Given the description of an element on the screen output the (x, y) to click on. 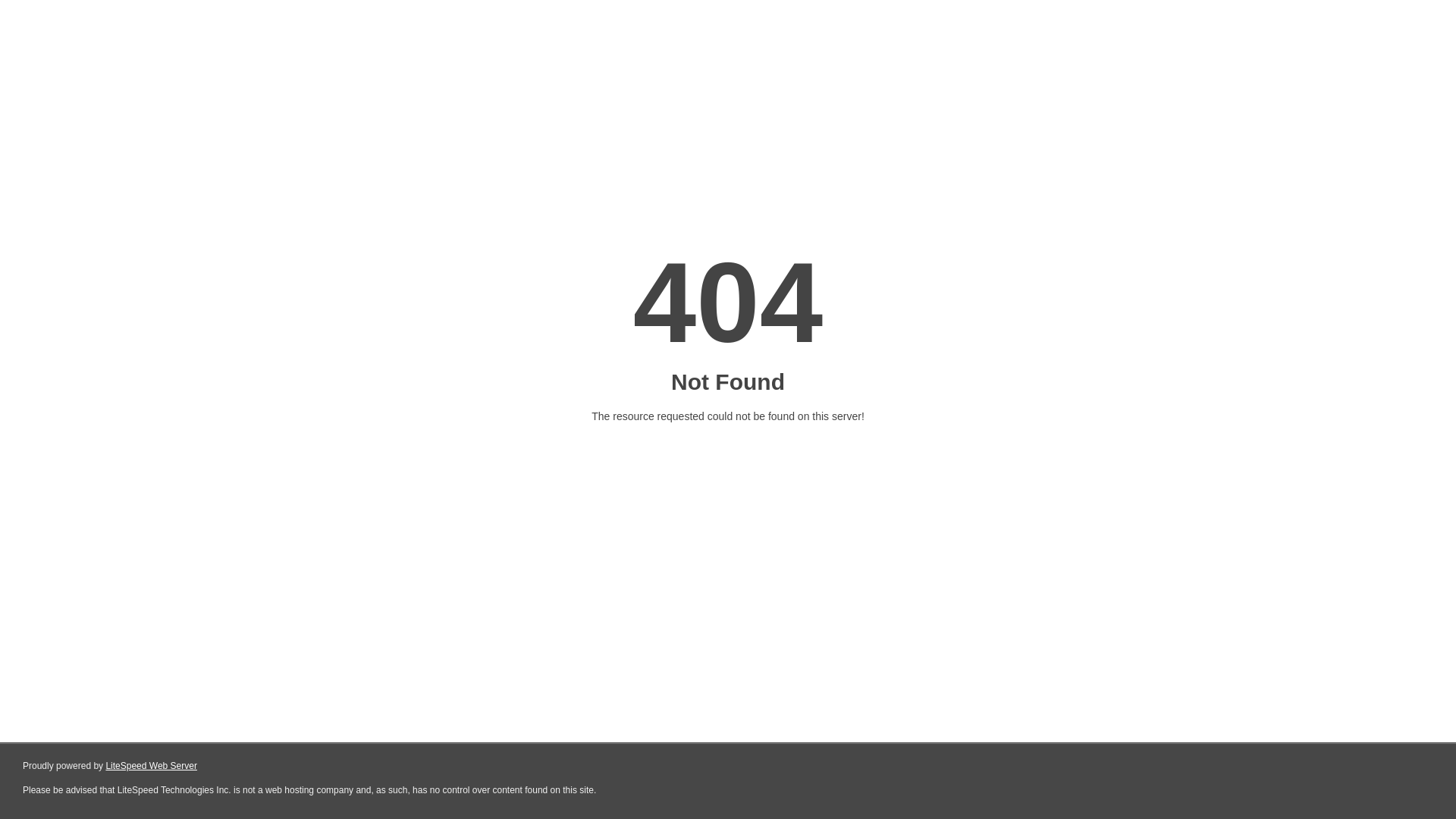
LiteSpeed Web Server Element type: text (151, 765)
